Given the description of an element on the screen output the (x, y) to click on. 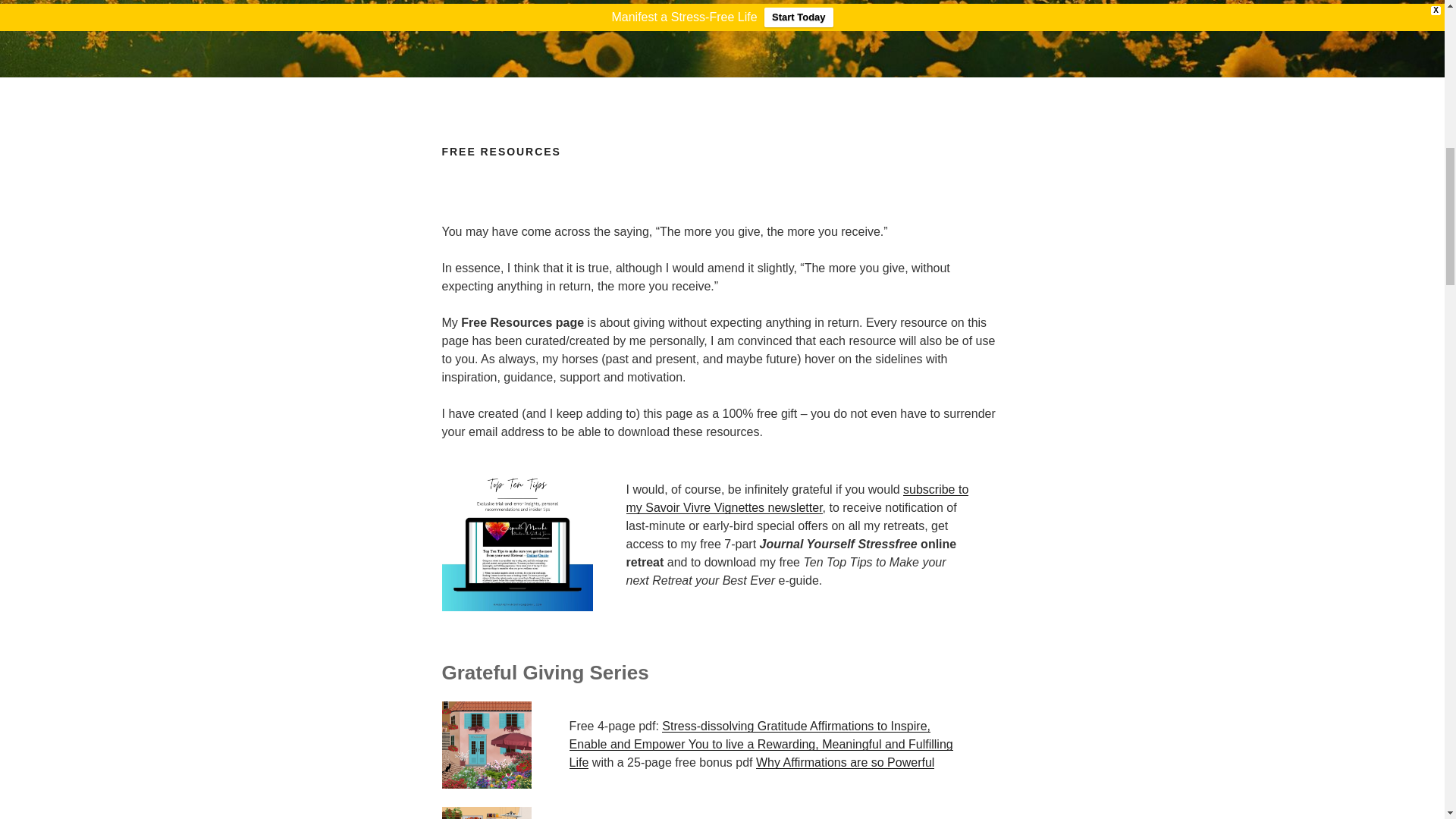
subscribe to my Savoir Vivre Vignettes newsletter (797, 498)
Why Affirmations are so Powerful (844, 762)
